Given the description of an element on the screen output the (x, y) to click on. 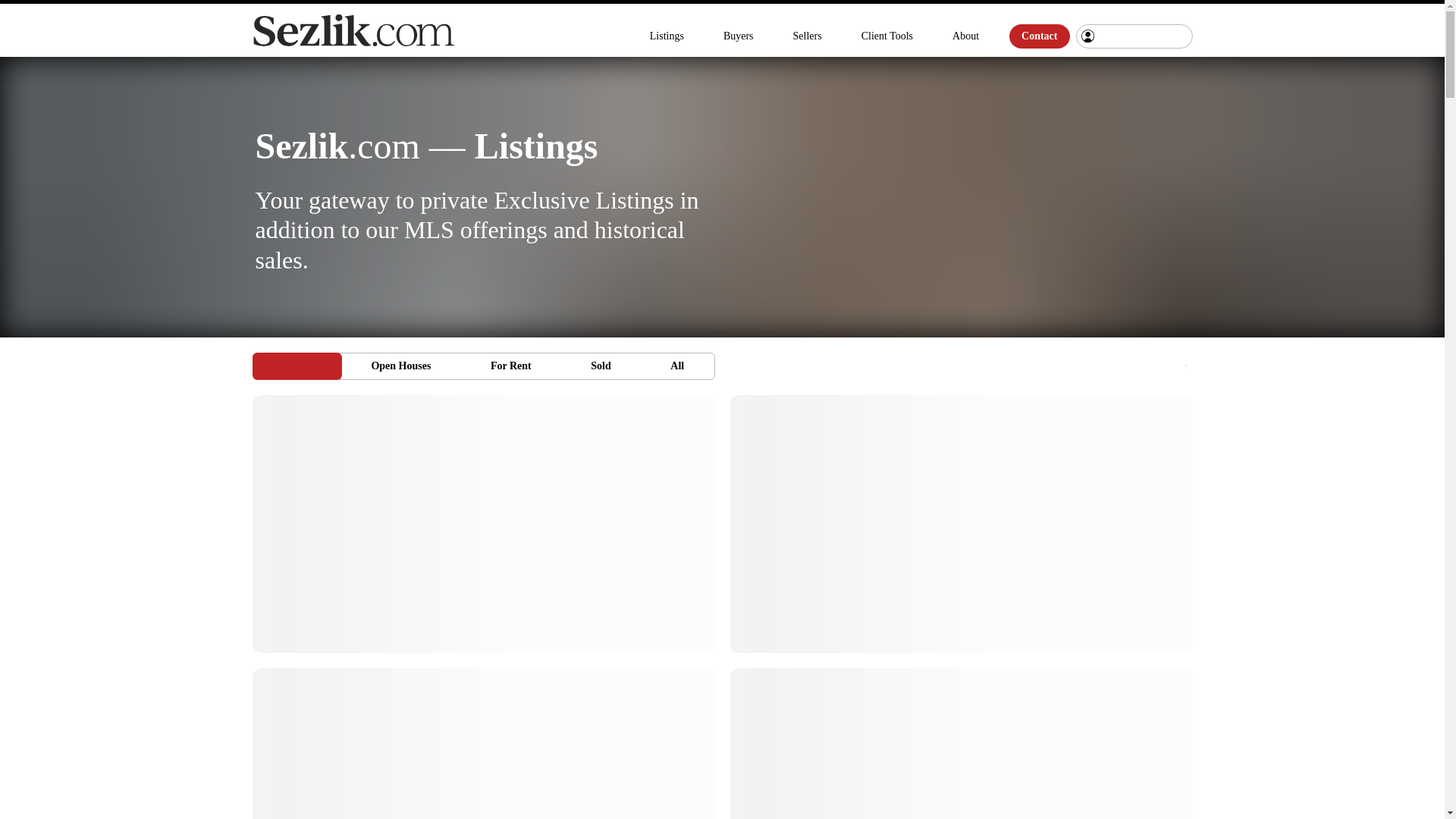
Client Tools (886, 36)
About (965, 36)
Contact (1038, 36)
Sold (482, 366)
Sellers (601, 366)
Open Houses (807, 36)
For Rent (400, 366)
Buyers (511, 366)
Listings (738, 36)
